Given the description of an element on the screen output the (x, y) to click on. 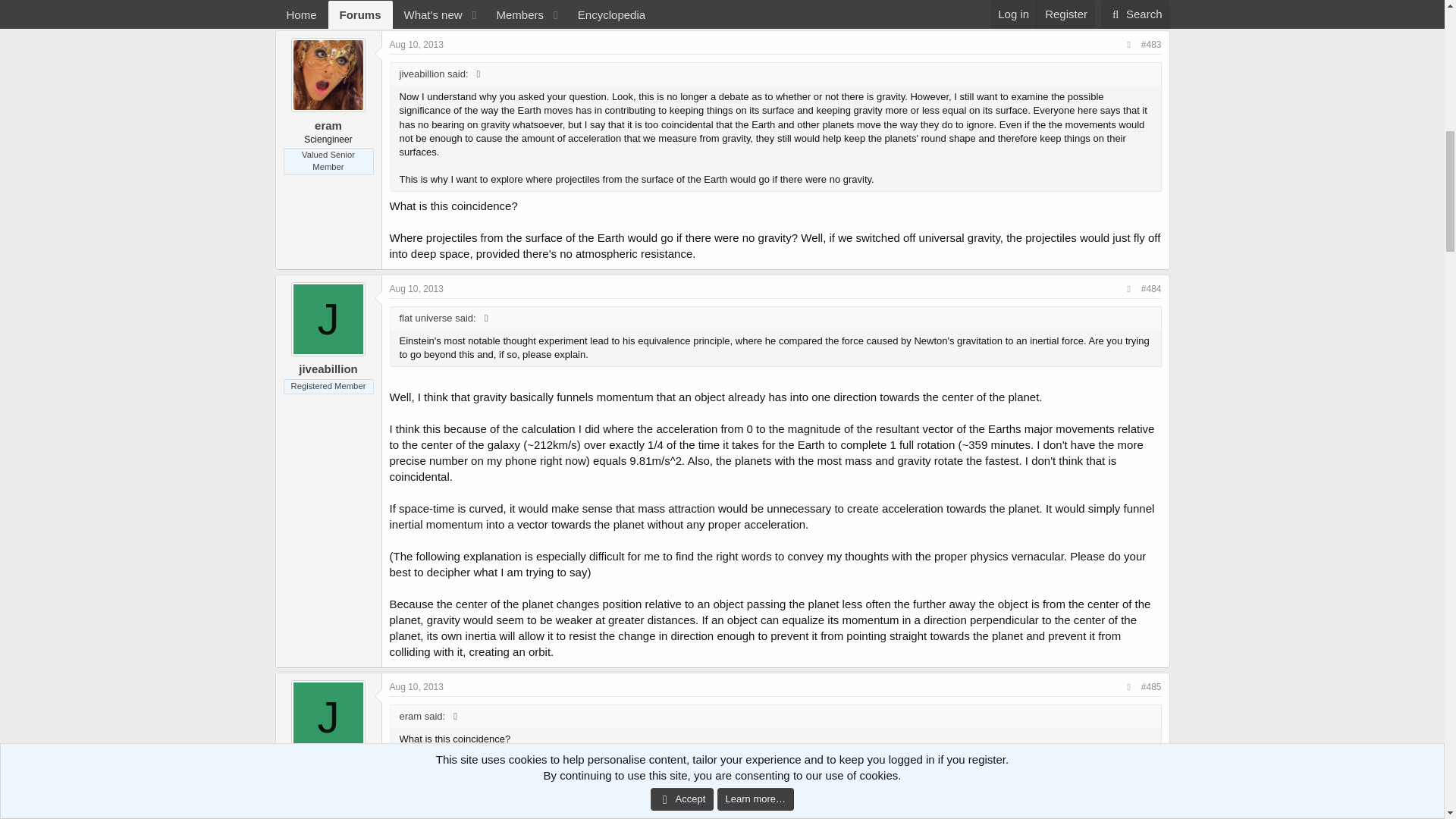
Aug 10, 2013 at 6:41 PM (417, 44)
Aug 10, 2013 at 6:53 PM (417, 686)
Aug 10, 2013 at 6:47 PM (417, 288)
